Given the description of an element on the screen output the (x, y) to click on. 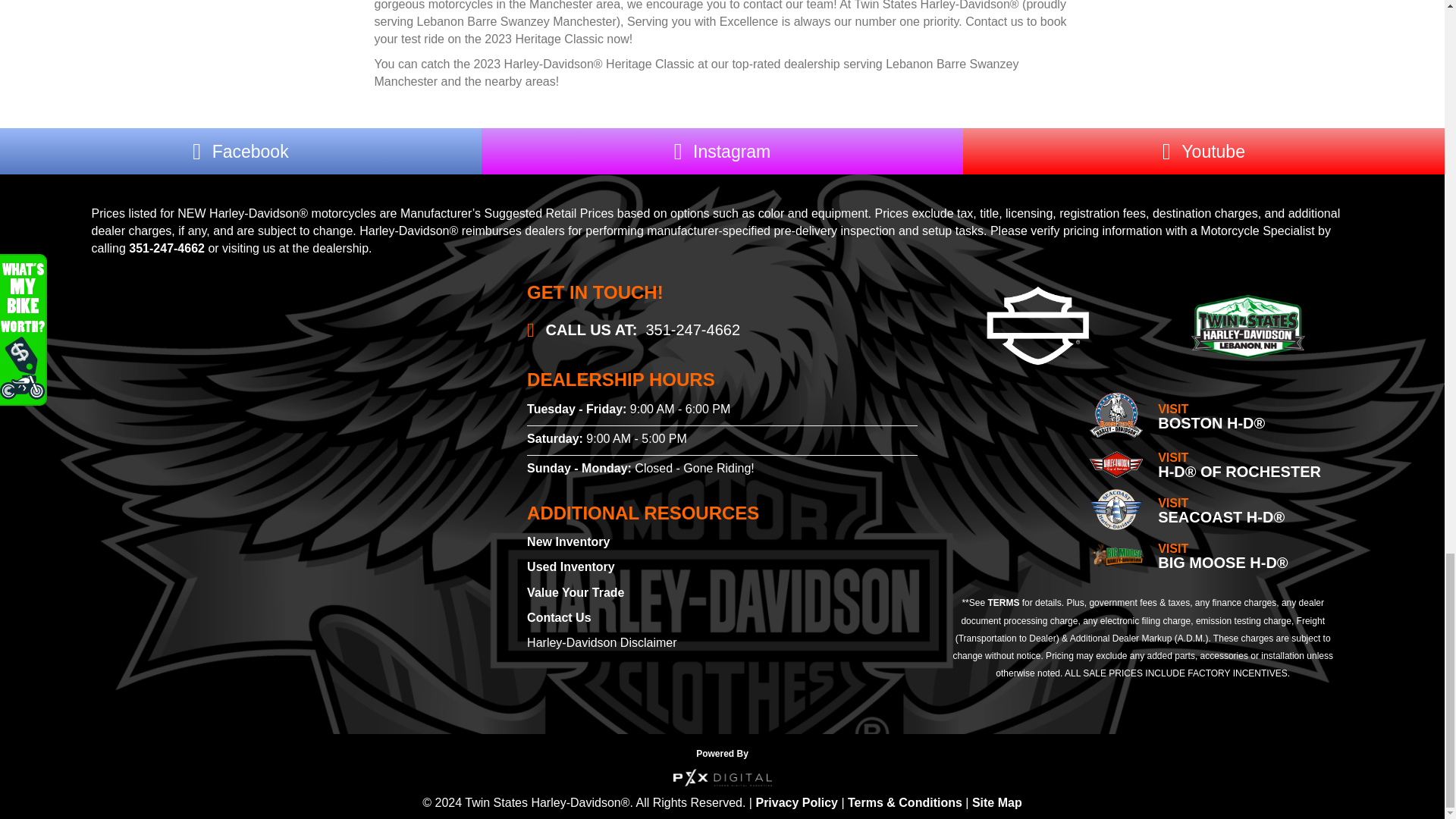
BigMoose-logo-header (1115, 555)
RochesterHD-logo-header (1115, 463)
BostonHD-logo-header (1115, 415)
logo-header-hd (1247, 326)
Twin States Harley-Davidson (286, 436)
Logo (1115, 508)
